Given the description of an element on the screen output the (x, y) to click on. 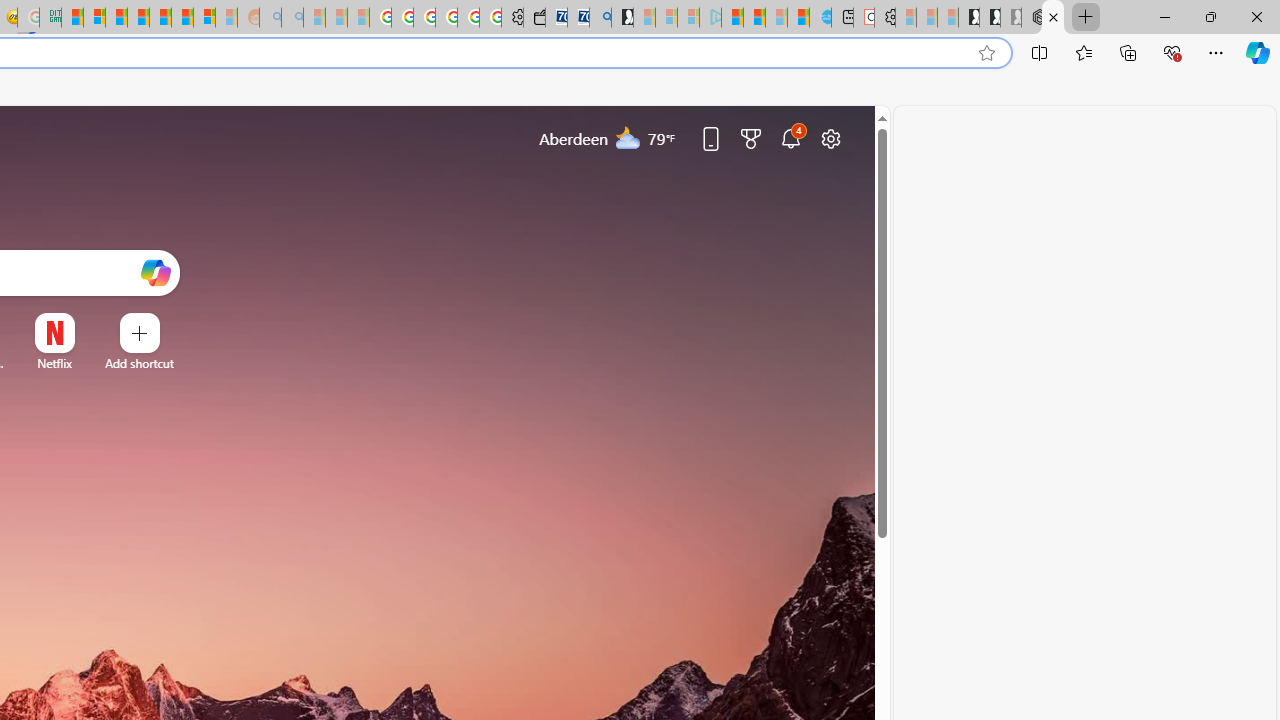
Microsoft account | Privacy (94, 17)
Kinda Frugal - MSN (182, 17)
Open Copilot (155, 273)
Utah sues federal government - Search - Sleeping (292, 17)
Wallet (534, 17)
Netflix (54, 363)
Microsoft Start - Sleeping (776, 17)
